Given the description of an element on the screen output the (x, y) to click on. 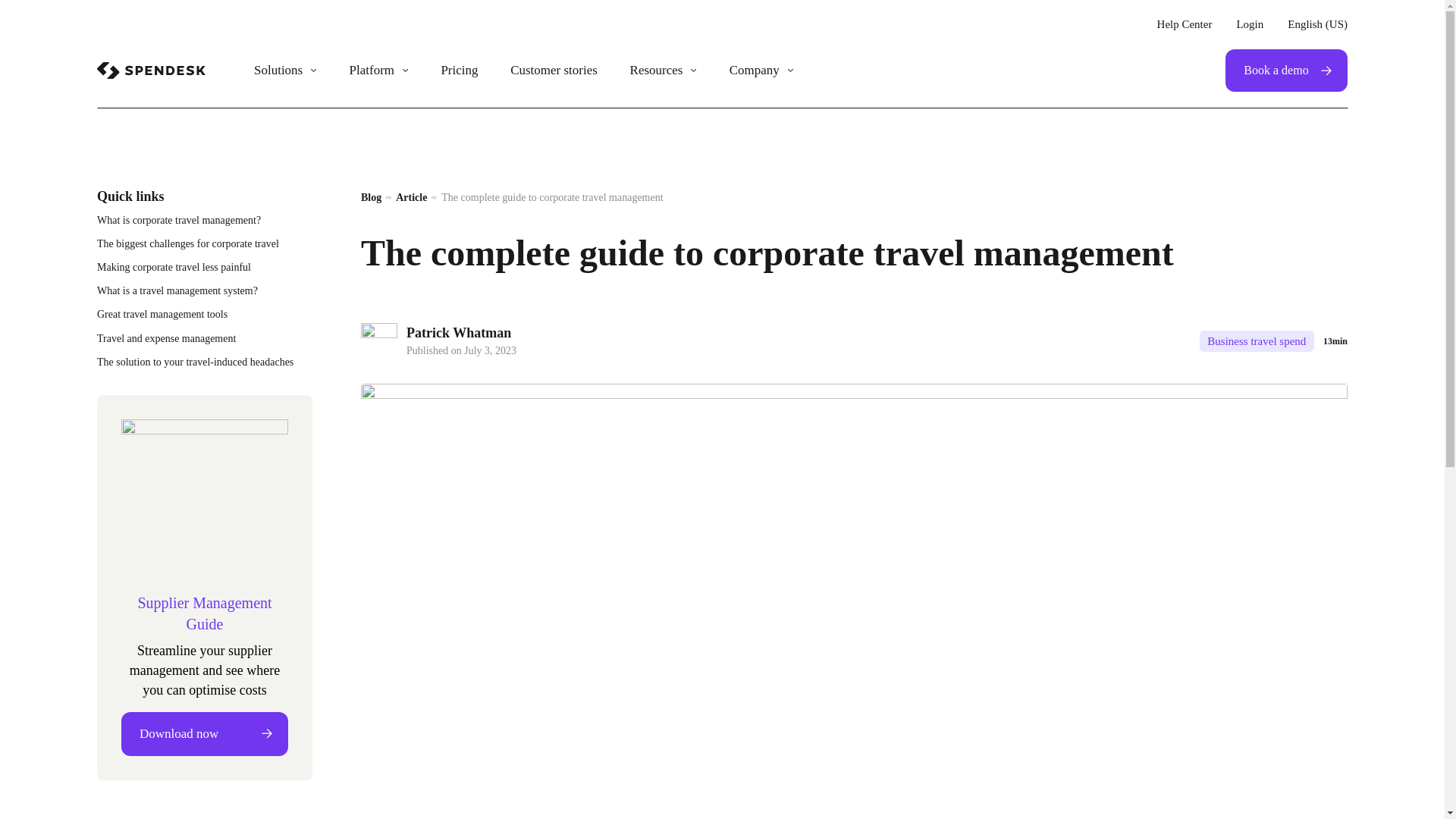
Pricing (459, 70)
Help Center (1184, 24)
Book a demo (1286, 70)
Customer stories (553, 70)
Login (1249, 24)
